Given the description of an element on the screen output the (x, y) to click on. 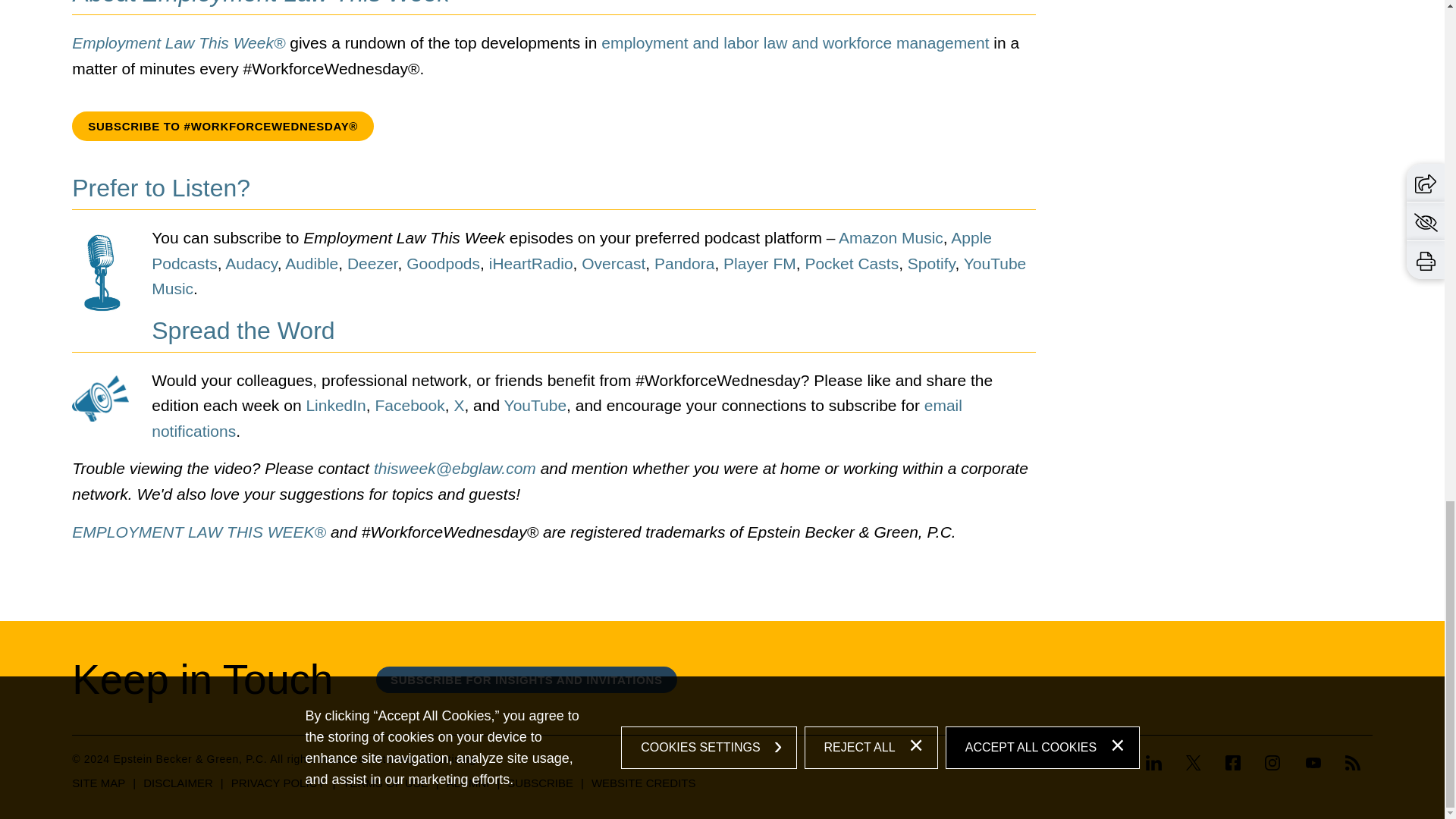
Youtube (1313, 764)
Facebook (1232, 762)
Instagram (1273, 762)
Linkedin (1159, 764)
Facebook (1232, 764)
Linkedin (1153, 762)
Twitter (1192, 764)
Instagram (1273, 764)
RSS (1352, 762)
Twitter (1193, 762)
